Given the description of an element on the screen output the (x, y) to click on. 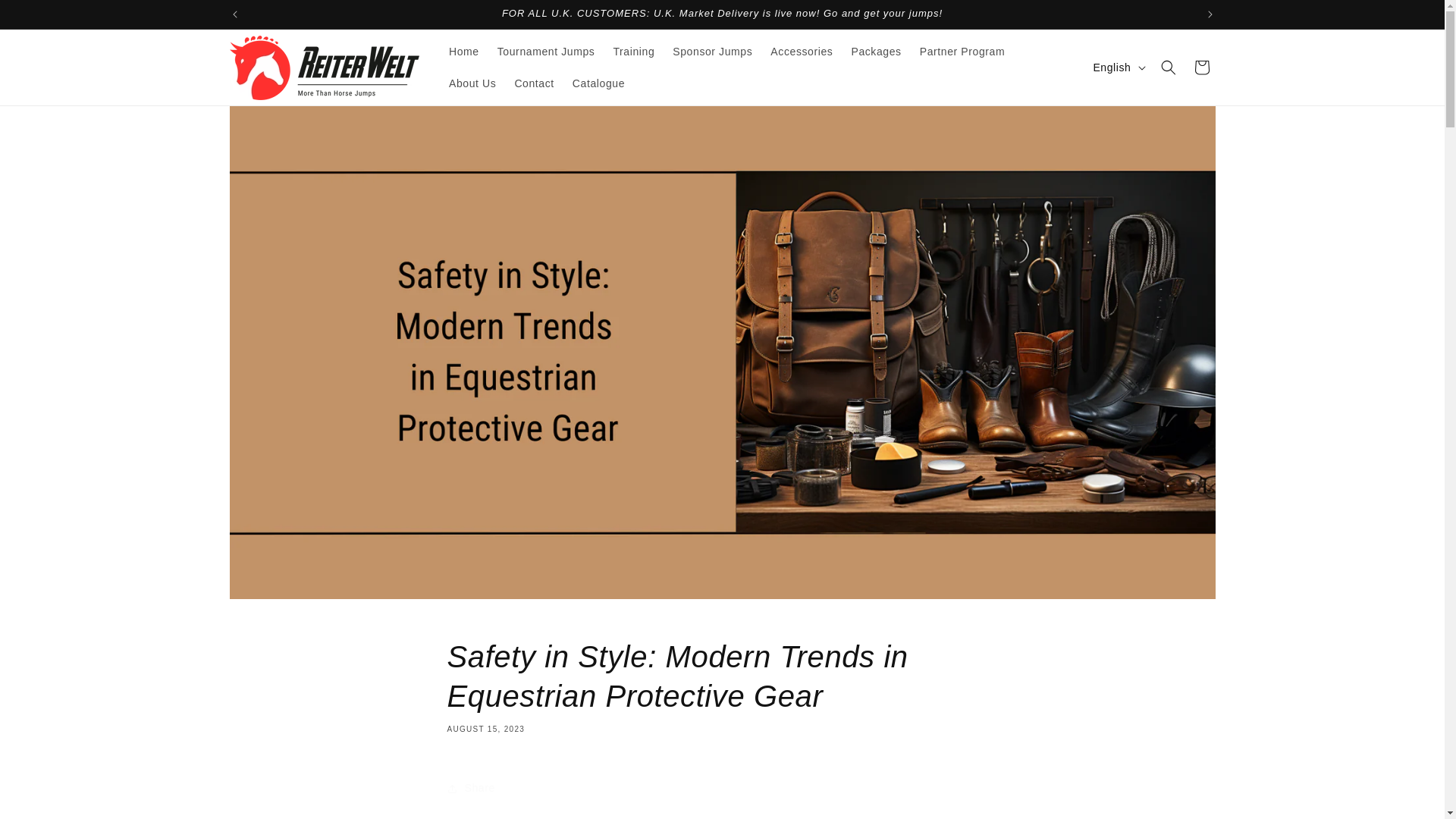
Home (463, 51)
Tournament Jumps (545, 51)
Training (633, 51)
Packages (875, 51)
Partner Program (962, 51)
Accessories (801, 51)
Contact (533, 83)
English (1117, 67)
Share (721, 788)
